Given the description of an element on the screen output the (x, y) to click on. 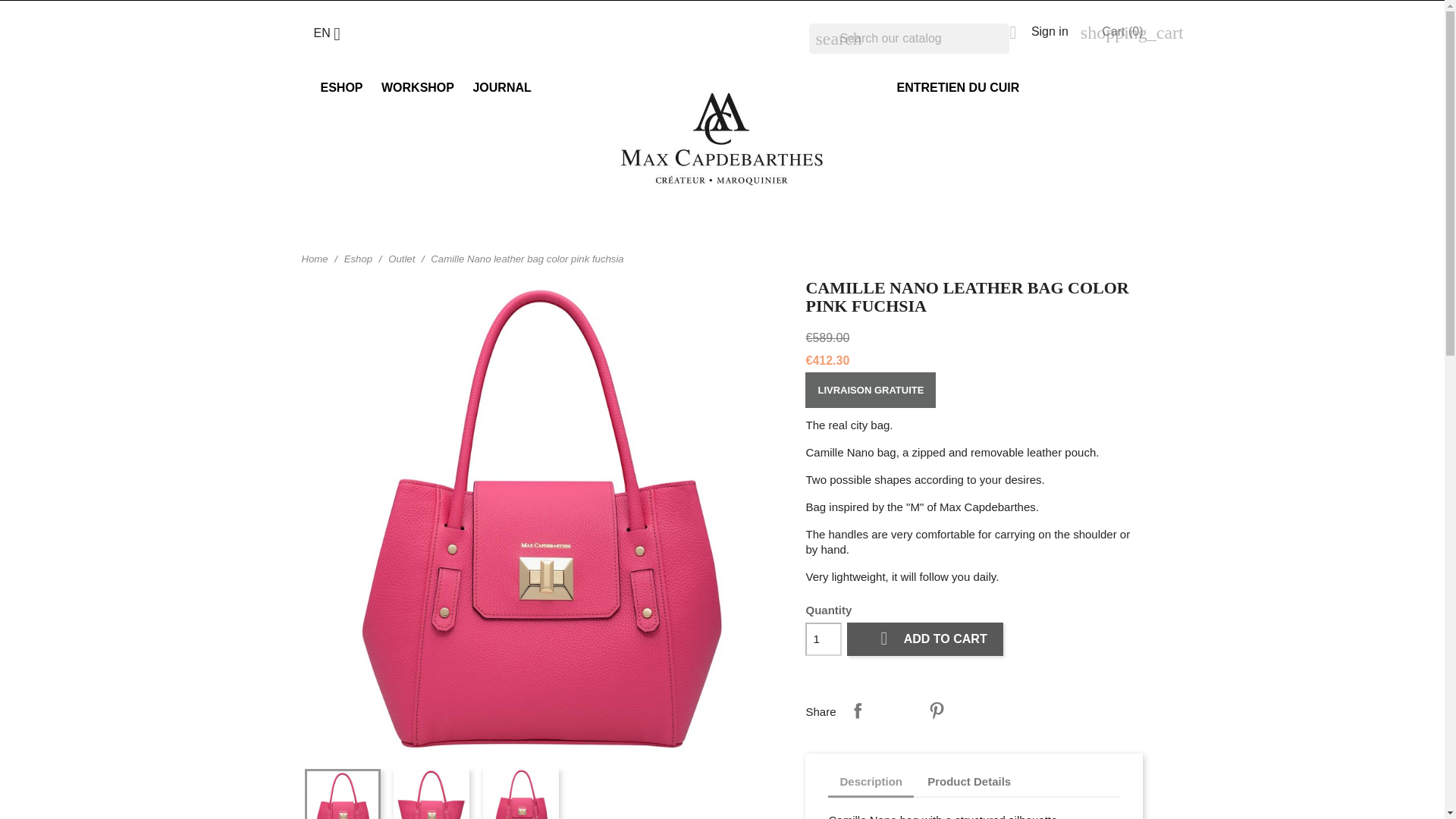
Log in to your customer account (1038, 31)
1 (823, 639)
Share (857, 710)
ESHOP (341, 88)
Pinterest (936, 710)
Tweet (897, 710)
